Given the description of an element on the screen output the (x, y) to click on. 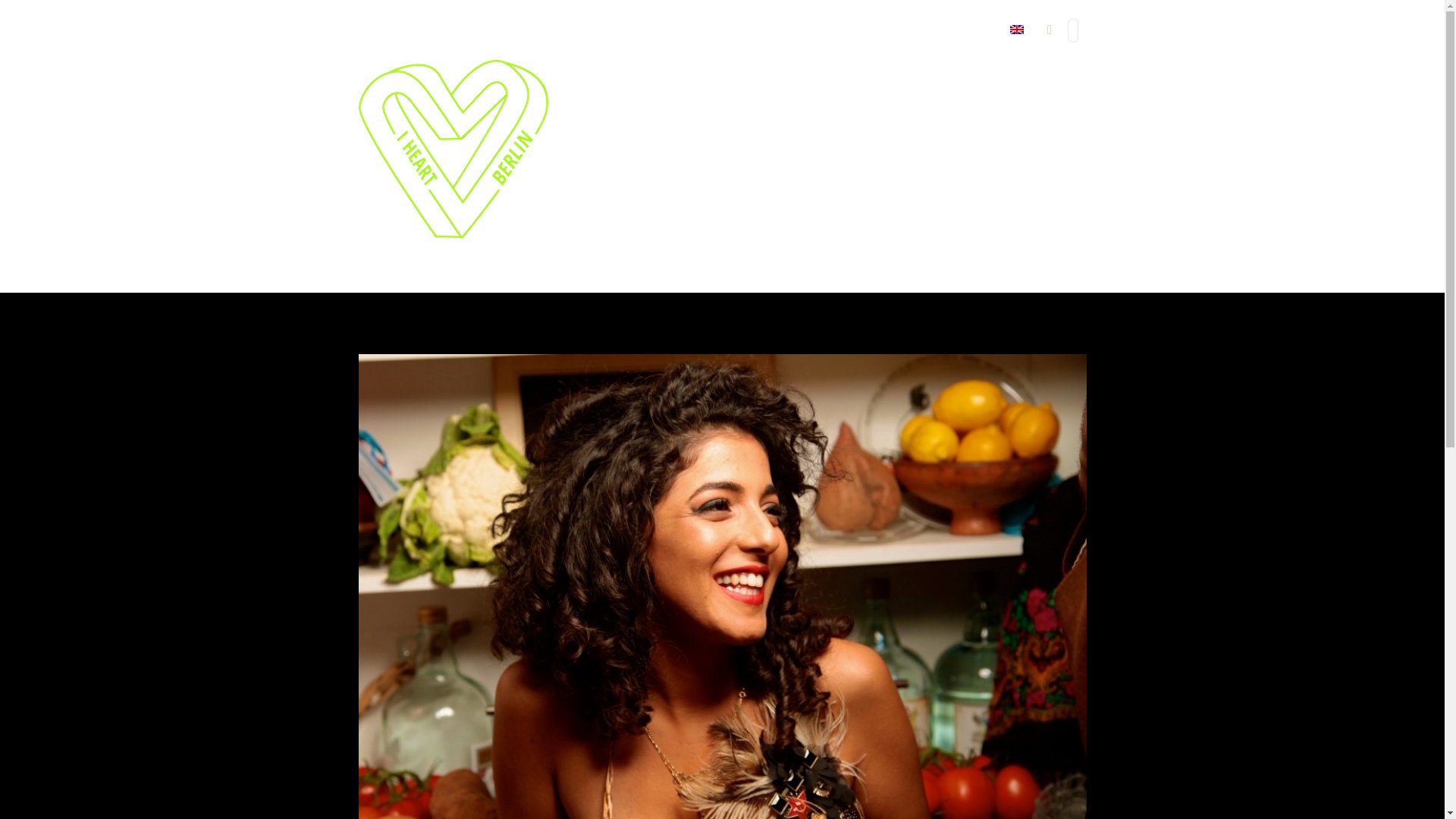
Shop (829, 33)
Language:  (997, 33)
Contact (922, 33)
About (872, 33)
Events (722, 33)
Magazine (778, 33)
iHeartBerlin-Logo-2020-neon (452, 148)
English (997, 33)
